Given the description of an element on the screen output the (x, y) to click on. 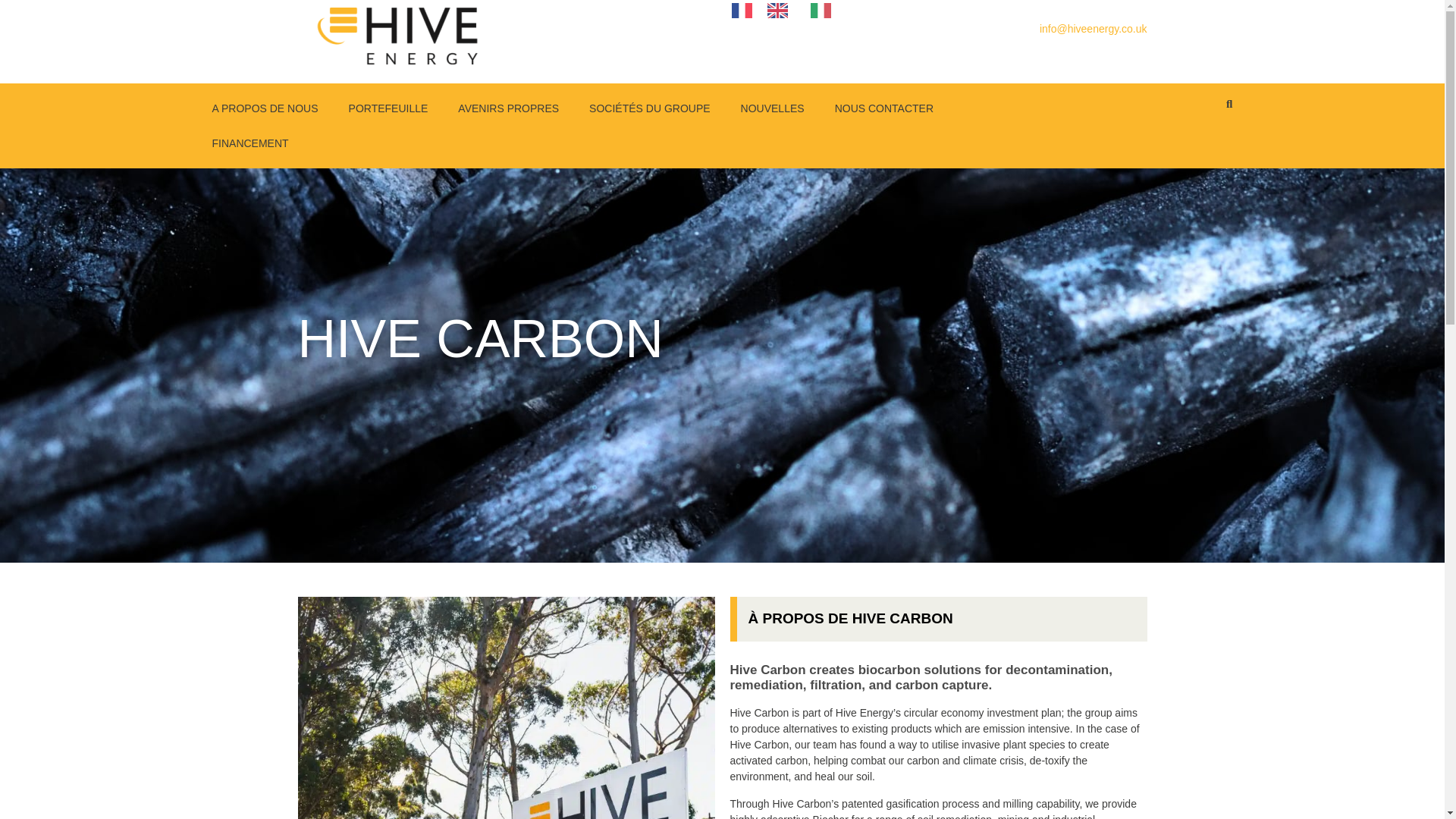
Language switcher : Italian (823, 9)
PORTEFEUILLE (388, 108)
Language switcher : English (781, 9)
AVENIRS PROPRES (507, 108)
A PROPOS DE NOUS (264, 108)
